Given the description of an element on the screen output the (x, y) to click on. 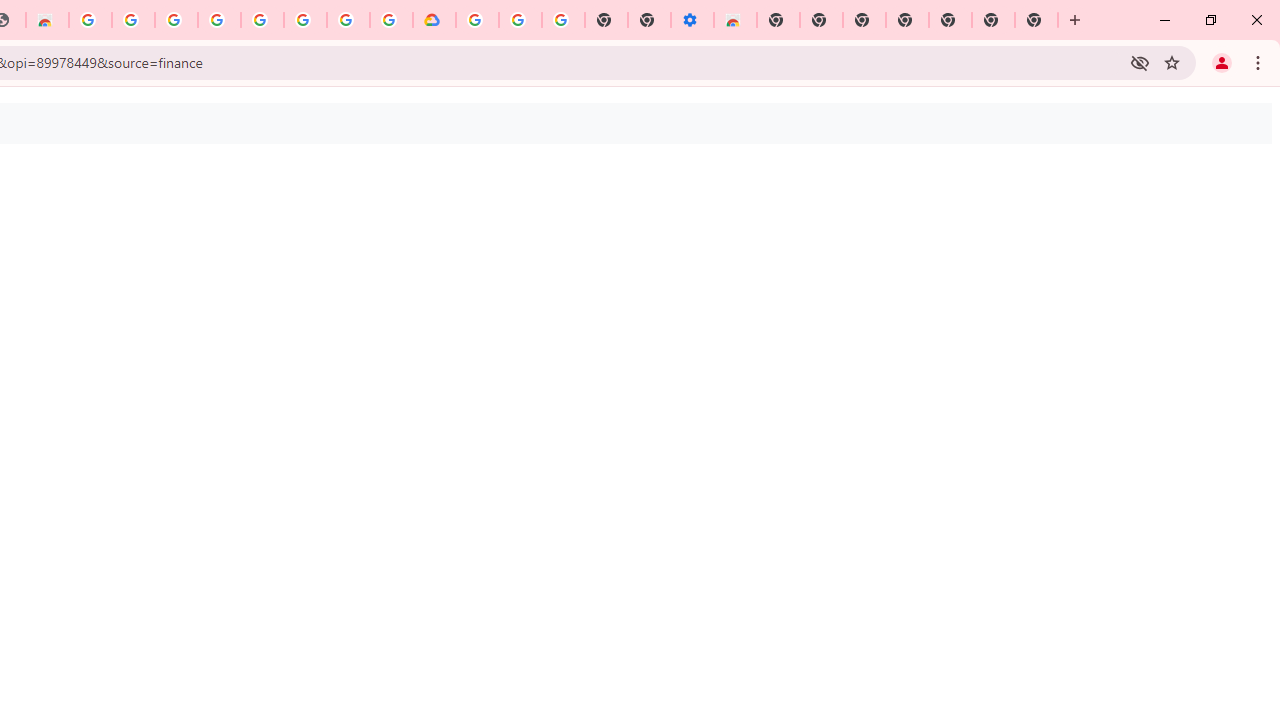
Turn cookies on or off - Computer - Google Account Help (562, 20)
Sign in - Google Accounts (219, 20)
New Tab (777, 20)
Sign in - Google Accounts (477, 20)
Chrome Web Store - Accessibility extensions (735, 20)
